Given the description of an element on the screen output the (x, y) to click on. 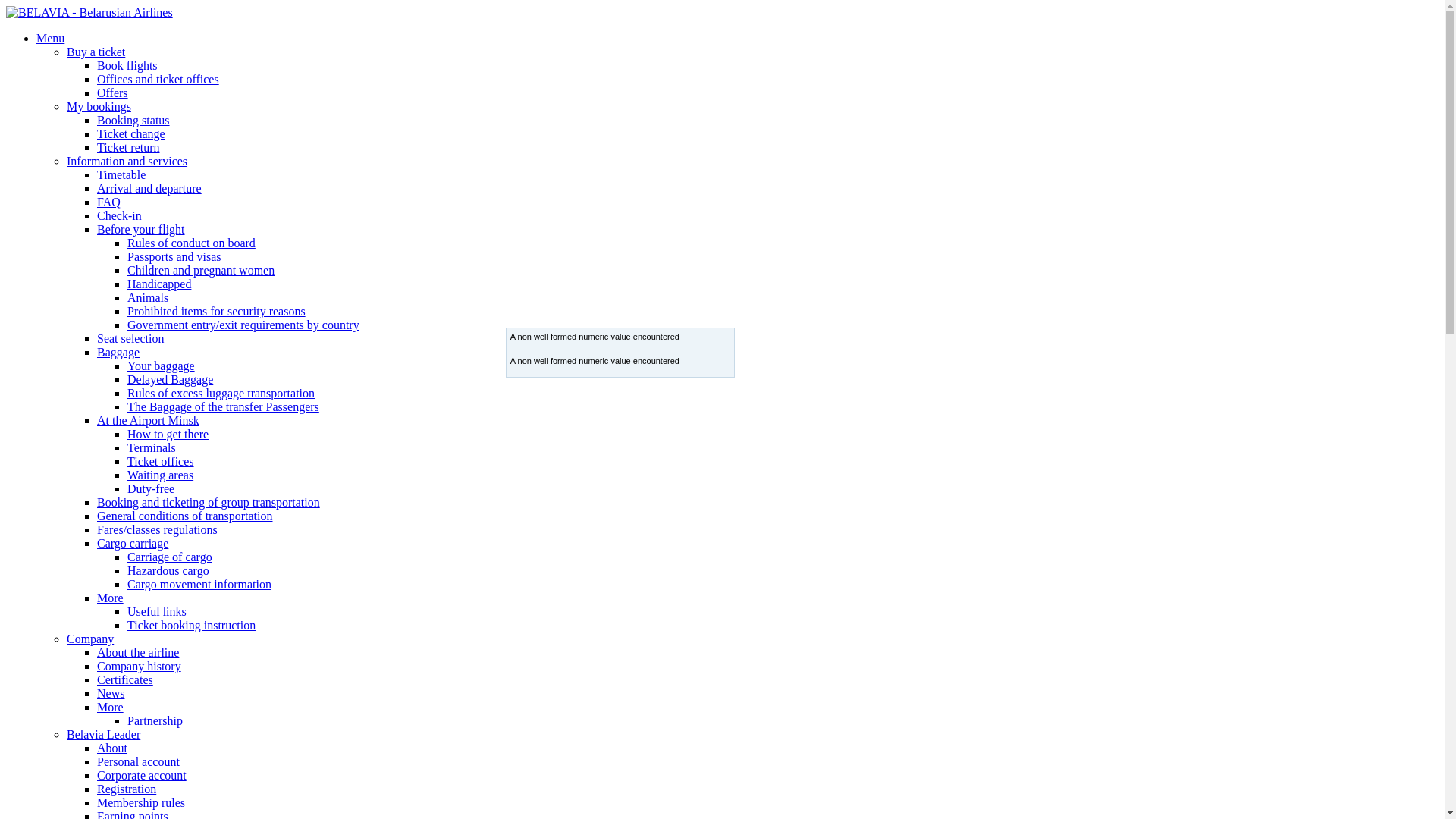
Partnership Element type: text (154, 720)
Ticket change Element type: text (131, 133)
About the airline Element type: text (137, 652)
Booking status Element type: text (133, 119)
Rules of conduct on board Element type: text (191, 242)
Book flights Element type: text (127, 65)
More Element type: text (110, 597)
Children and pregnant women Element type: text (200, 269)
Useful links Element type: text (156, 611)
Handicapped Element type: text (159, 283)
Waiting areas Element type: text (160, 474)
Offices and ticket offices Element type: text (158, 78)
Information and services Element type: text (126, 160)
Passports and visas Element type: text (174, 256)
Delayed Baggage Element type: text (170, 379)
Timetable Element type: text (121, 174)
Hazardous cargo Element type: text (168, 570)
Menu Element type: text (50, 37)
Fares/classes regulations Element type: text (157, 529)
Personal account Element type: text (138, 761)
Booking and ticketing of group transportation Element type: text (208, 501)
Company history Element type: text (139, 665)
Before your flight Element type: text (141, 228)
Cargo carriage Element type: text (132, 542)
Your baggage Element type: text (160, 365)
Duty-free Element type: text (150, 488)
Seat selection Element type: text (130, 338)
Terminals Element type: text (151, 447)
Arrival and departure Element type: text (149, 188)
Prohibited items for security reasons Element type: text (216, 310)
FAQ Element type: text (108, 201)
Cargo movement information Element type: text (199, 583)
Company Element type: text (89, 638)
Ticket return Element type: text (128, 147)
Check-in Element type: text (119, 215)
Buy a ticket Element type: text (95, 51)
More Element type: text (110, 706)
Animals Element type: text (147, 297)
Baggage Element type: text (118, 351)
The Baggage of the transfer Passengers Element type: text (223, 406)
Membership rules Element type: text (141, 802)
Government entry/exit requirements by country Element type: text (243, 324)
Offers Element type: text (112, 92)
Ticket booking instruction Element type: text (191, 624)
About Element type: text (112, 747)
News Element type: text (110, 693)
Belavia Leader Element type: text (103, 734)
Registration Element type: text (126, 788)
Carriage of cargo Element type: text (169, 556)
How to get there Element type: text (167, 433)
General conditions of transportation Element type: text (185, 515)
My bookings Element type: text (98, 106)
At the Airport Minsk Element type: text (148, 420)
Ticket offices Element type: text (160, 461)
Rules of excess luggage transportation Element type: text (220, 392)
Corporate account Element type: text (141, 774)
Certificates Element type: text (125, 679)
